Given the description of an element on the screen output the (x, y) to click on. 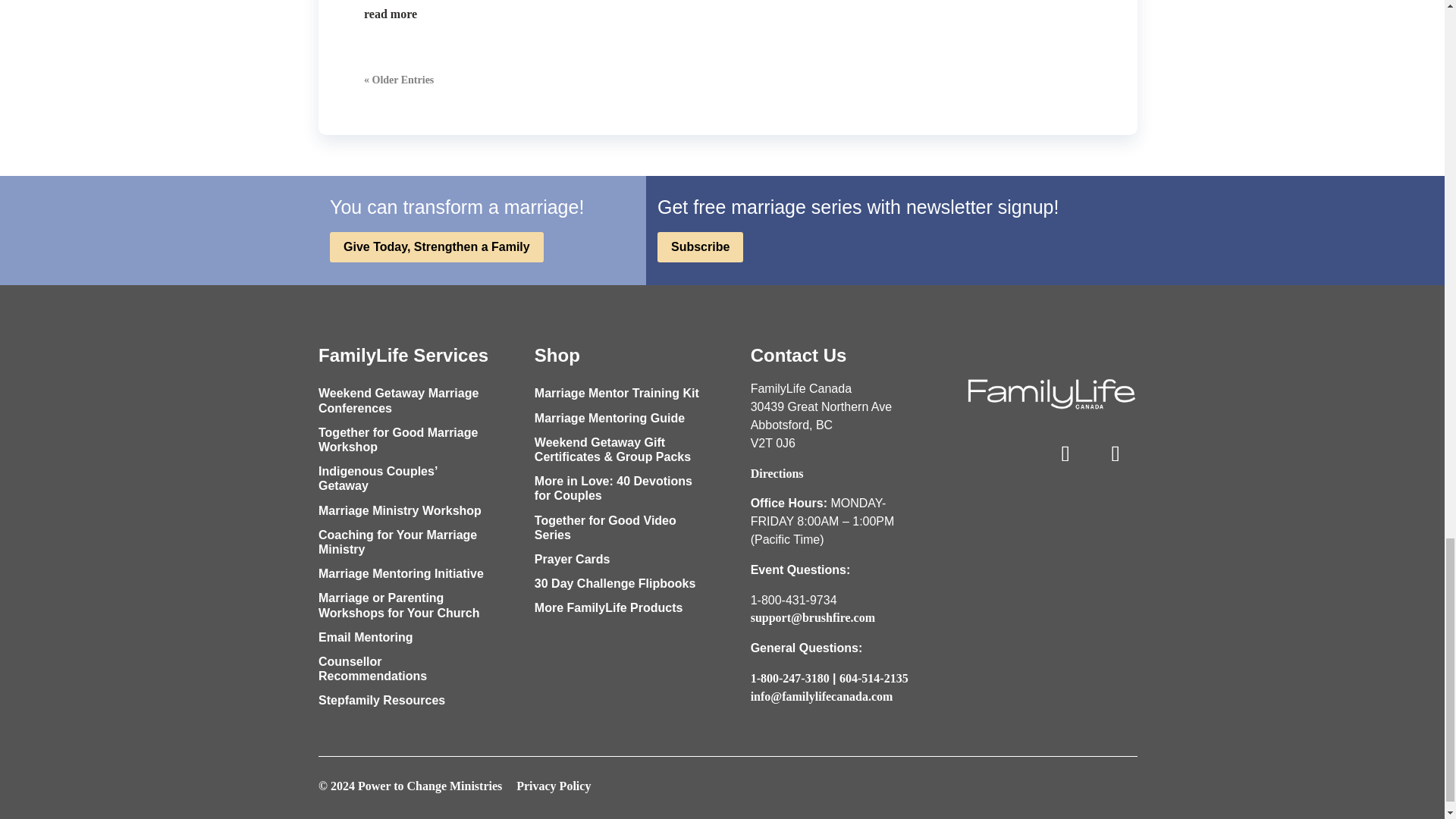
Follow on Facebook (1115, 453)
Follow on Instagram (1065, 453)
FL-CANADA-WHITE-NEW-for-Website (1051, 393)
